Given the description of an element on the screen output the (x, y) to click on. 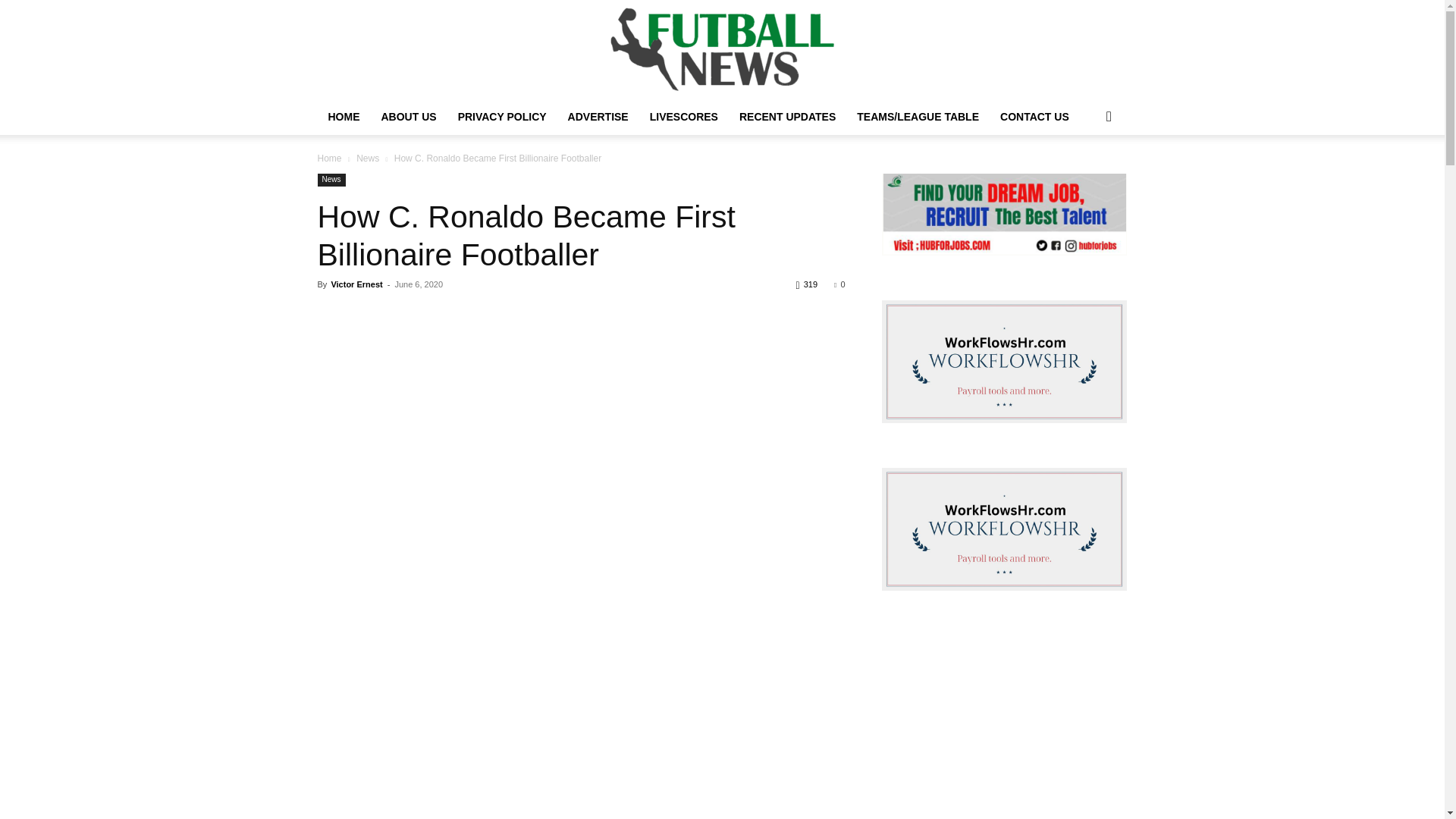
CONTACT US (1035, 116)
Home (328, 158)
ADVERTISE (598, 116)
HOME (343, 116)
ABOUT US (407, 116)
View all posts in News (367, 158)
0 (839, 284)
RECENT UPDATES (787, 116)
PRIVACY POLICY (501, 116)
